Given the description of an element on the screen output the (x, y) to click on. 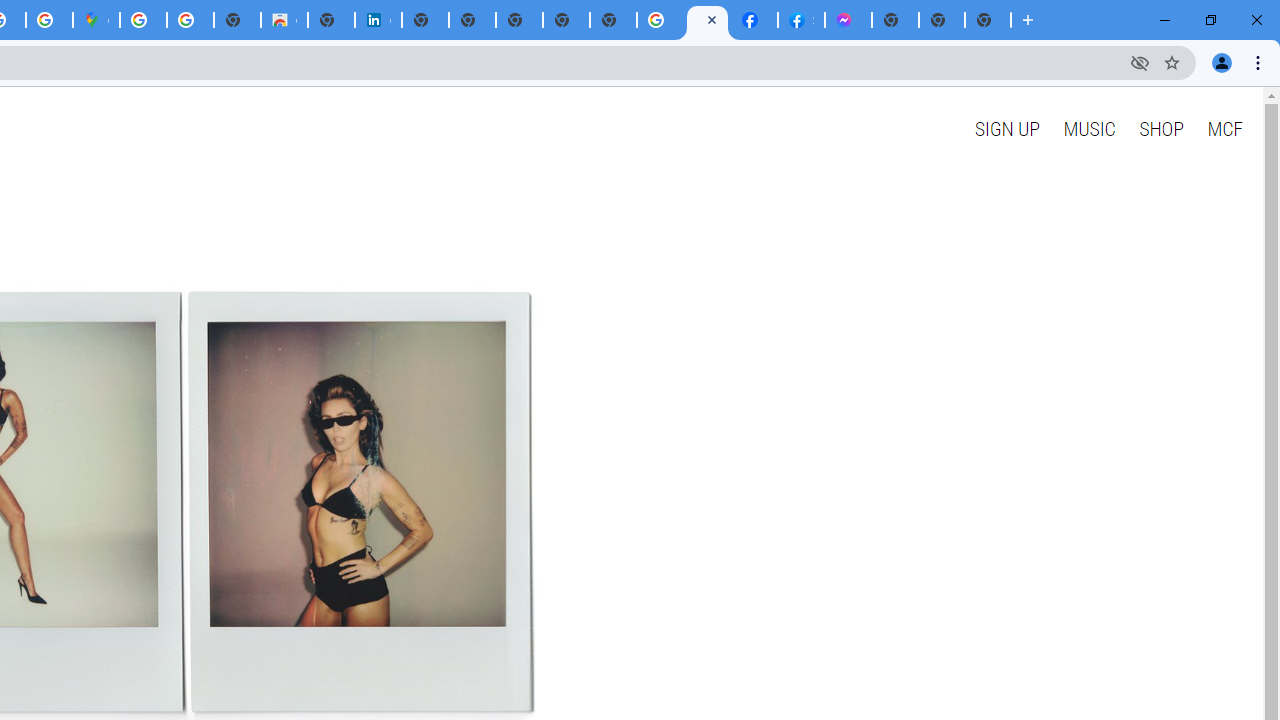
Chrome Web Store (284, 20)
Google Maps (96, 20)
MCF (1224, 128)
MILEY CYRUS. (706, 20)
SIGN UP (1006, 128)
